Given the description of an element on the screen output the (x, y) to click on. 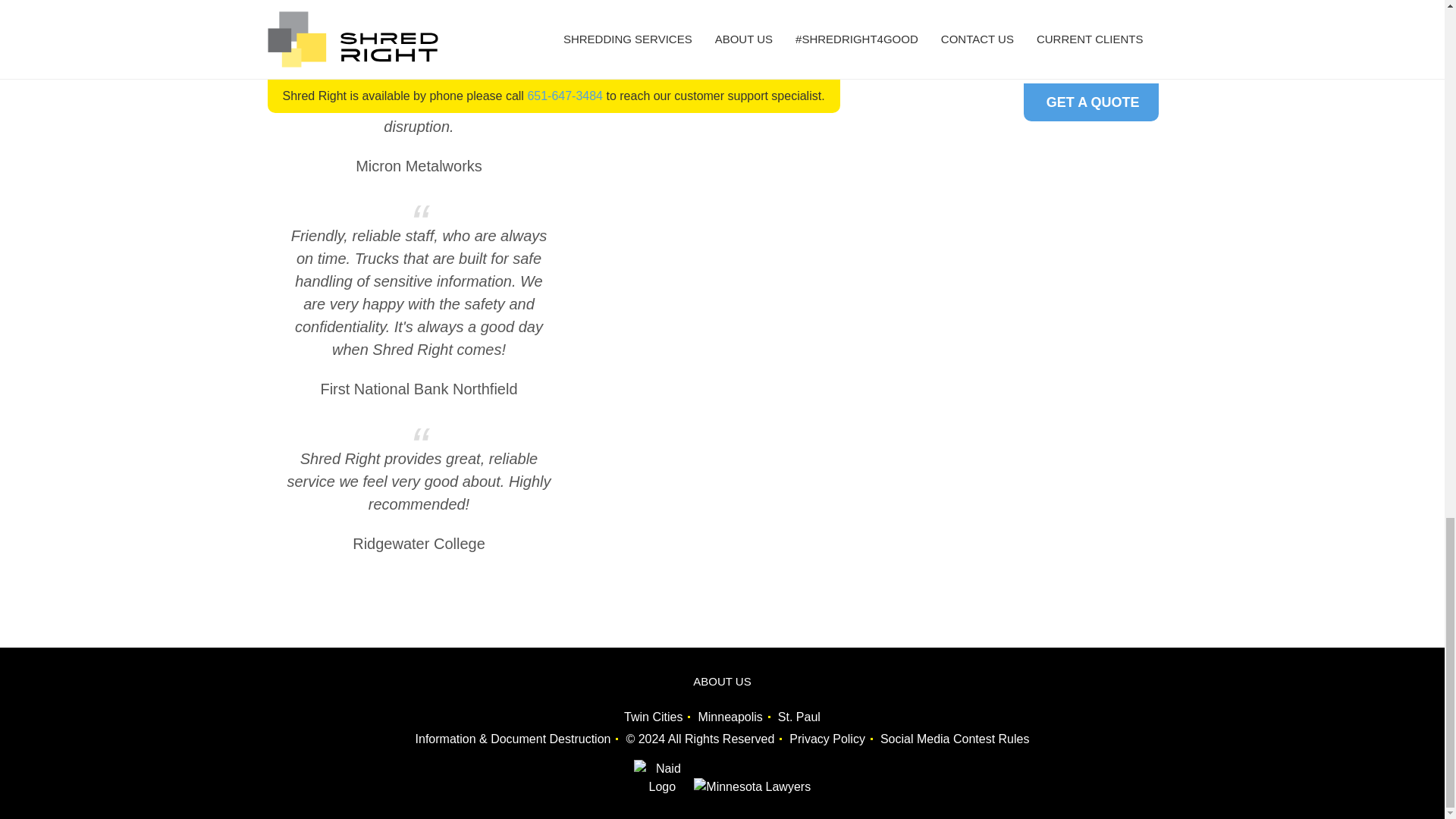
Privacy Policy (826, 738)
ABOUT US (721, 681)
Social Media Contest Rules (954, 738)
